Given the description of an element on the screen output the (x, y) to click on. 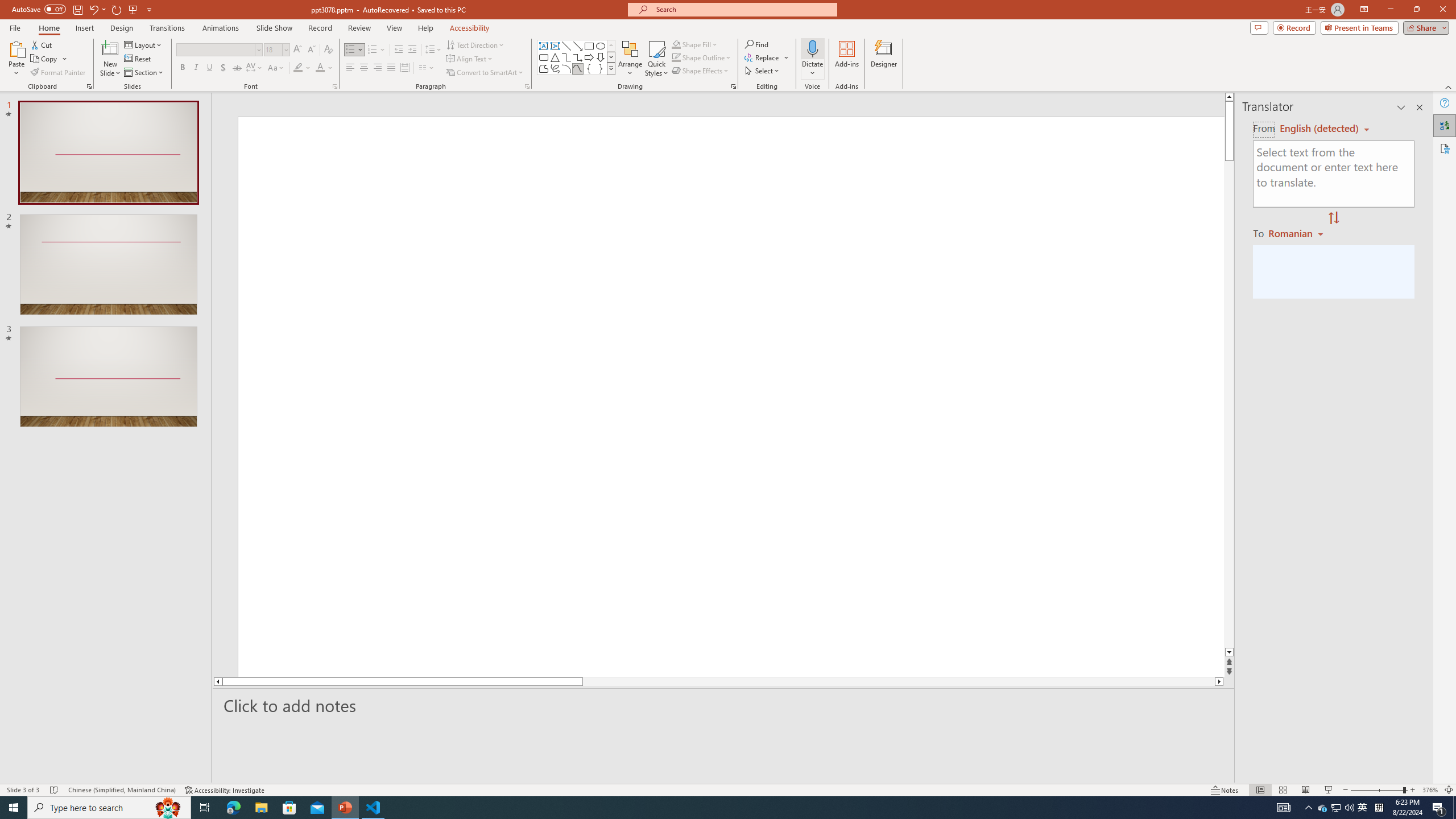
Zoom 376% (1430, 790)
